Given the description of an element on the screen output the (x, y) to click on. 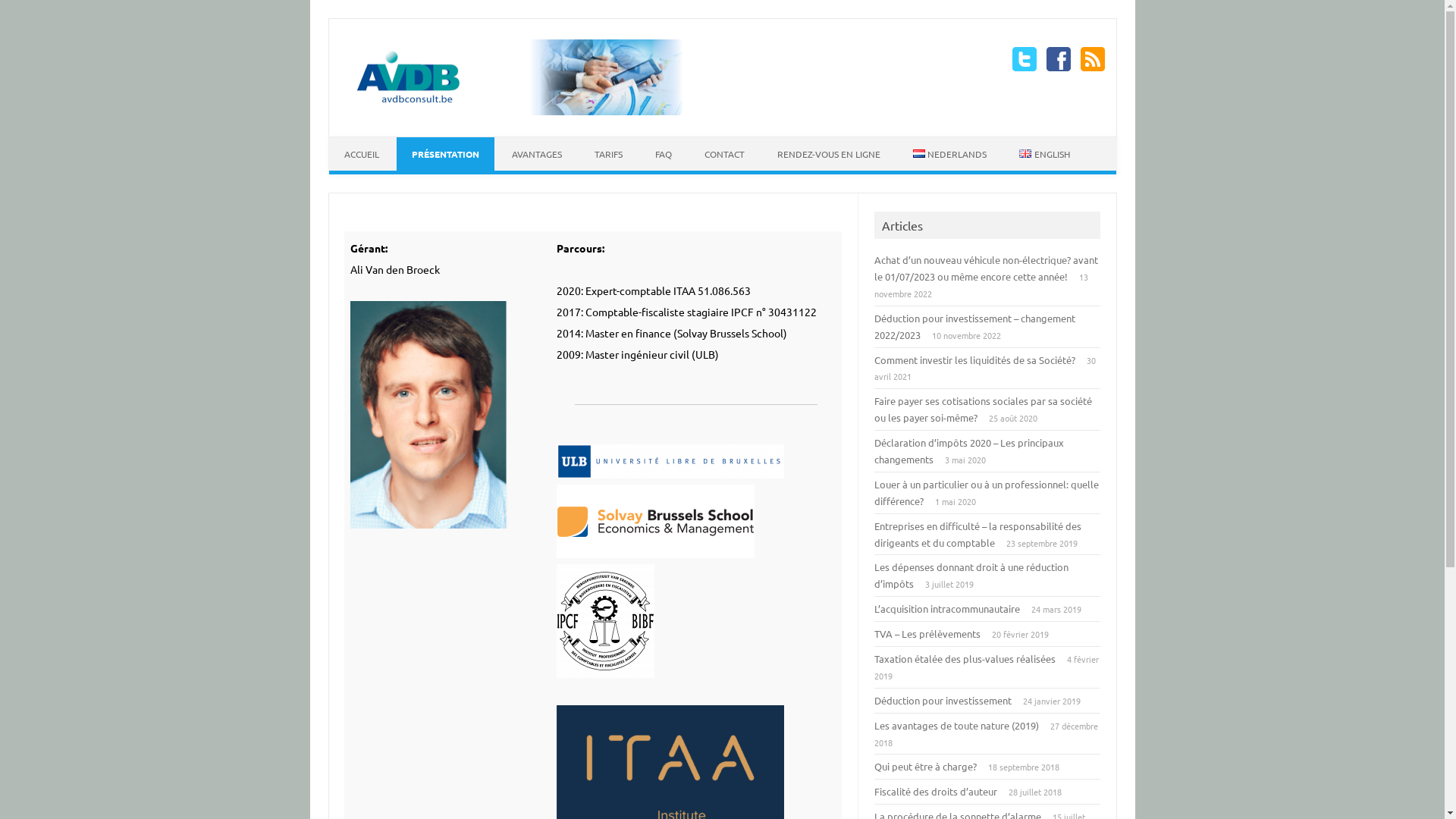
Les avantages de toute nature (2019) Element type: text (956, 724)
FAQ Element type: text (663, 153)
Skip to content Element type: text (365, 141)
NEDERLANDS Element type: text (949, 153)
ENGLISH Element type: text (1044, 153)
TARIFS Element type: text (608, 153)
CONTACT Element type: text (723, 153)
AVDB Consult Element type: hover (536, 110)
ACCUEIL Element type: text (361, 153)
RENDEZ-VOUS EN LIGNE Element type: text (827, 153)
AVANTAGES Element type: text (535, 153)
